Given the description of an element on the screen output the (x, y) to click on. 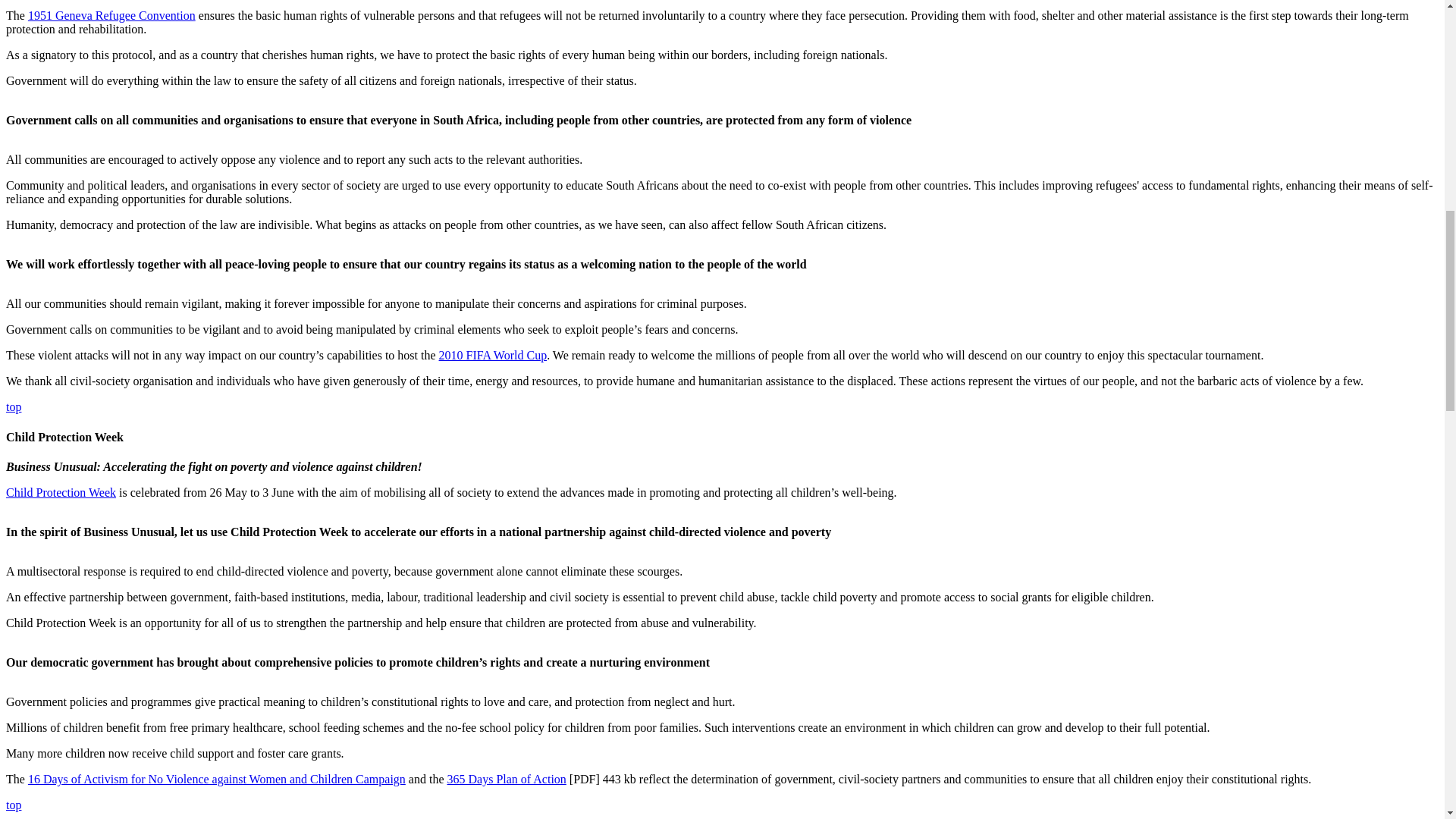
Ouside link - Opens in new window (216, 779)
top (13, 406)
1951 Geneva Refugee Convention (111, 15)
Ouside link - Opens in new window (111, 15)
Child Protection Week (60, 492)
Ouside link - Opens in new window (60, 492)
365 Days Plan of Action (506, 779)
Ouside link - Opens in new window (506, 779)
Ouside link - Opens in new window (493, 354)
